Given the description of an element on the screen output the (x, y) to click on. 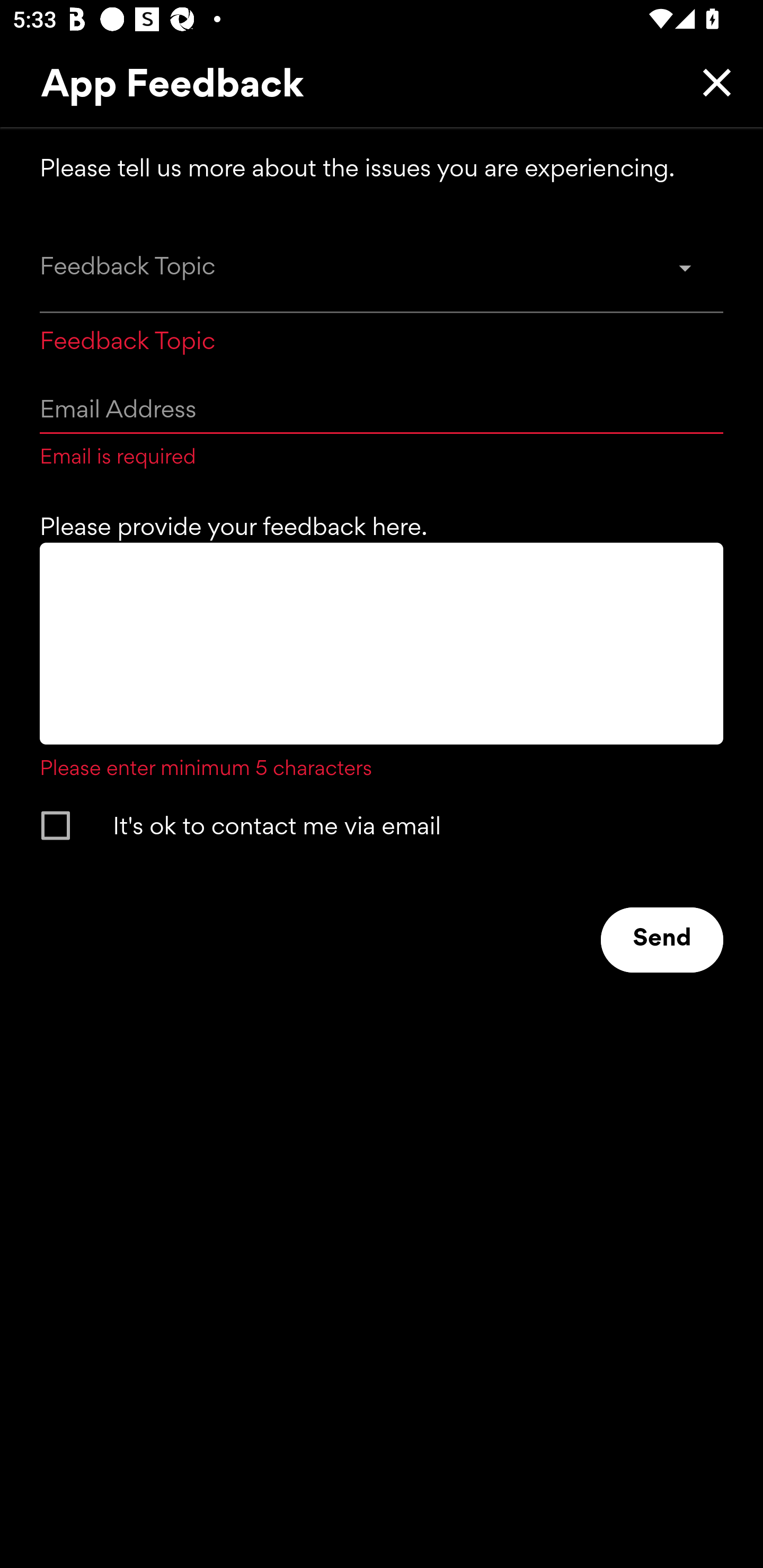
Close (712, 82)
Email is required (381, 421)
Please enter minimum 5 characters (381, 661)
It's ok to contact me via email (365, 825)
Send (662, 939)
